Given the description of an element on the screen output the (x, y) to click on. 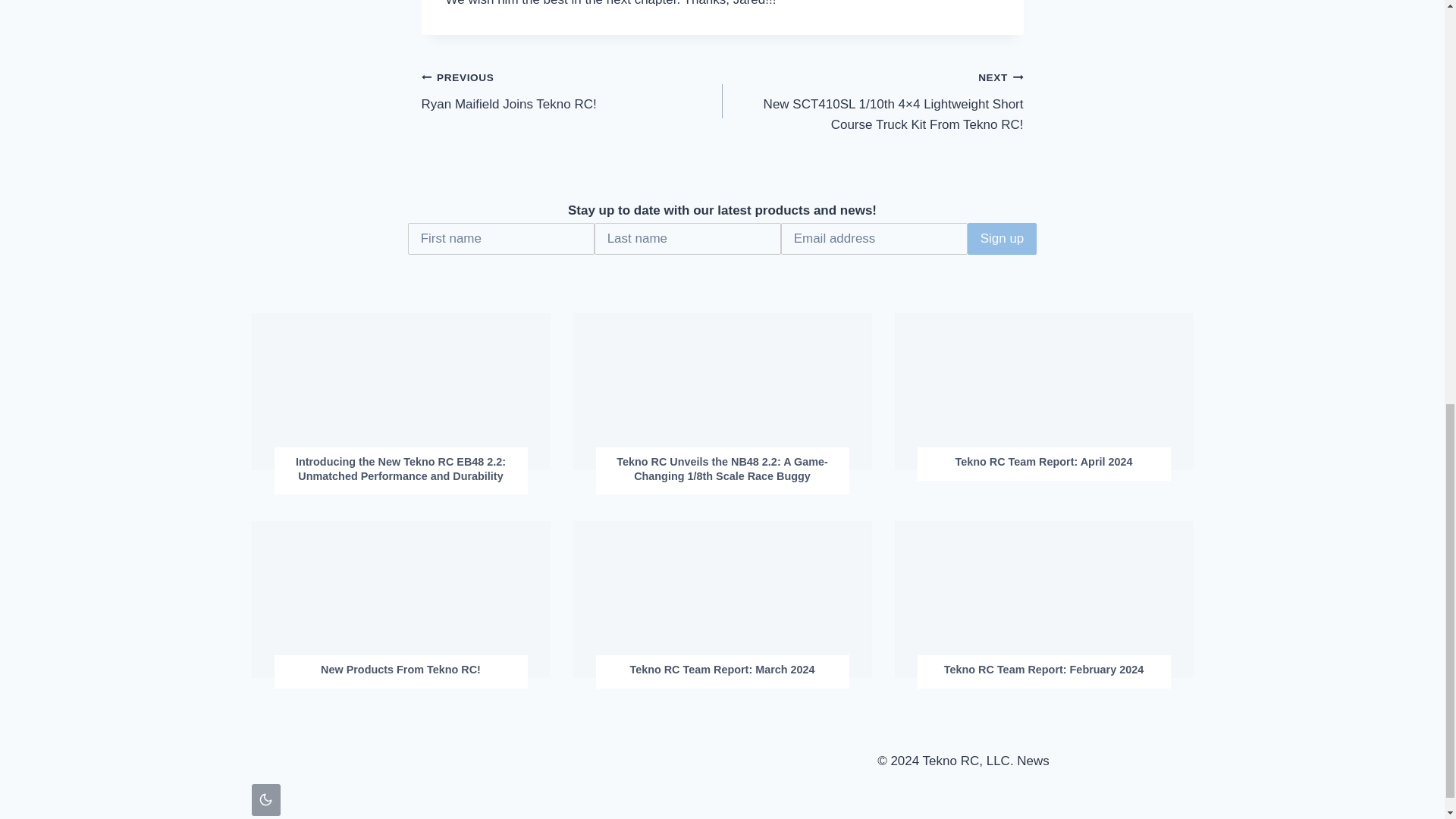
Tekno RC Team Report: March 2024 (722, 669)
Tekno RC Team Report: April 2024 (1043, 462)
Sign up (1002, 238)
Tekno RC Team Report: February 2024 (1043, 669)
Sign up (572, 90)
New Products From Tekno RC! (1002, 238)
